Given the description of an element on the screen output the (x, y) to click on. 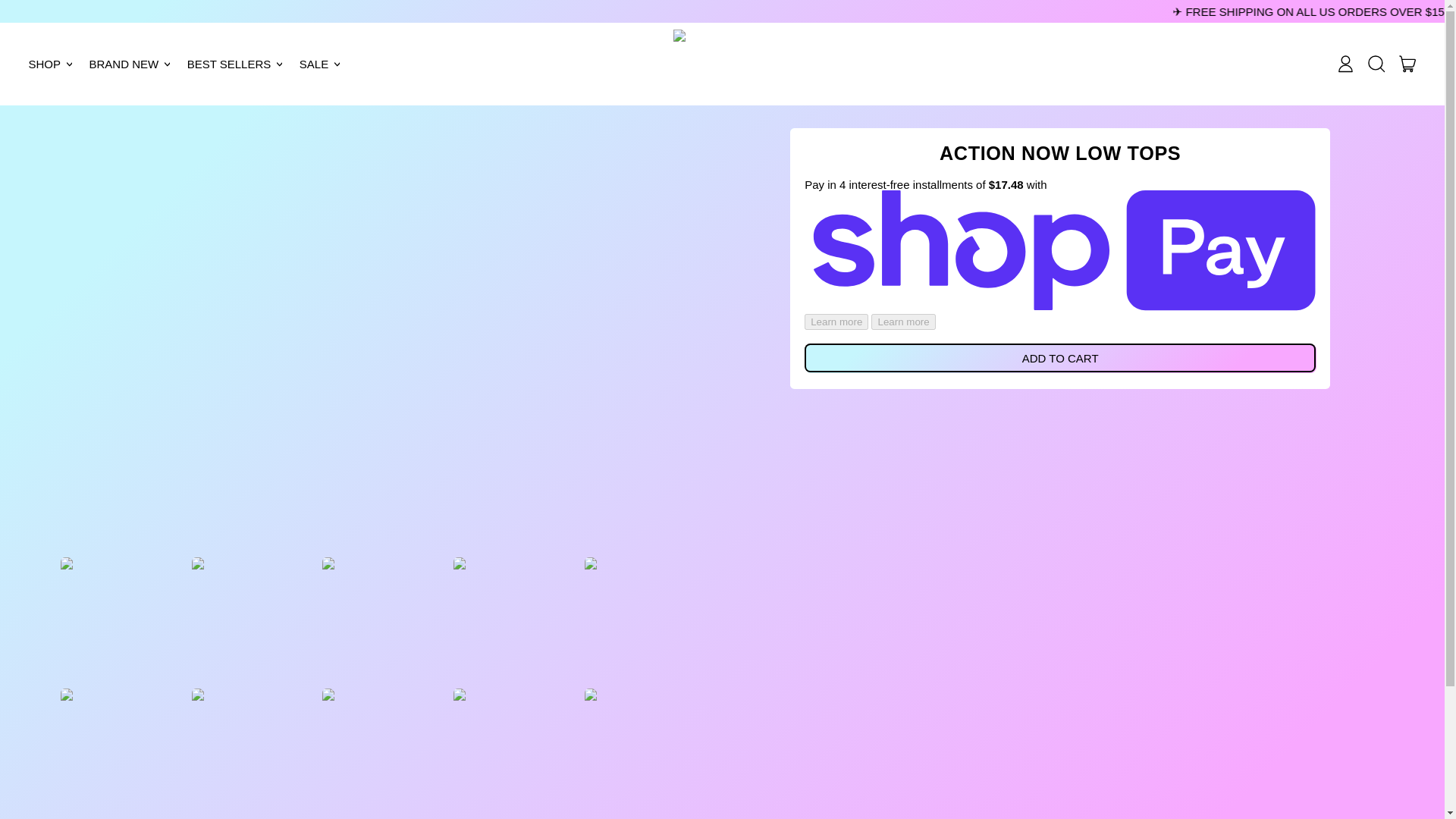
SHOP (51, 64)
